Given the description of an element on the screen output the (x, y) to click on. 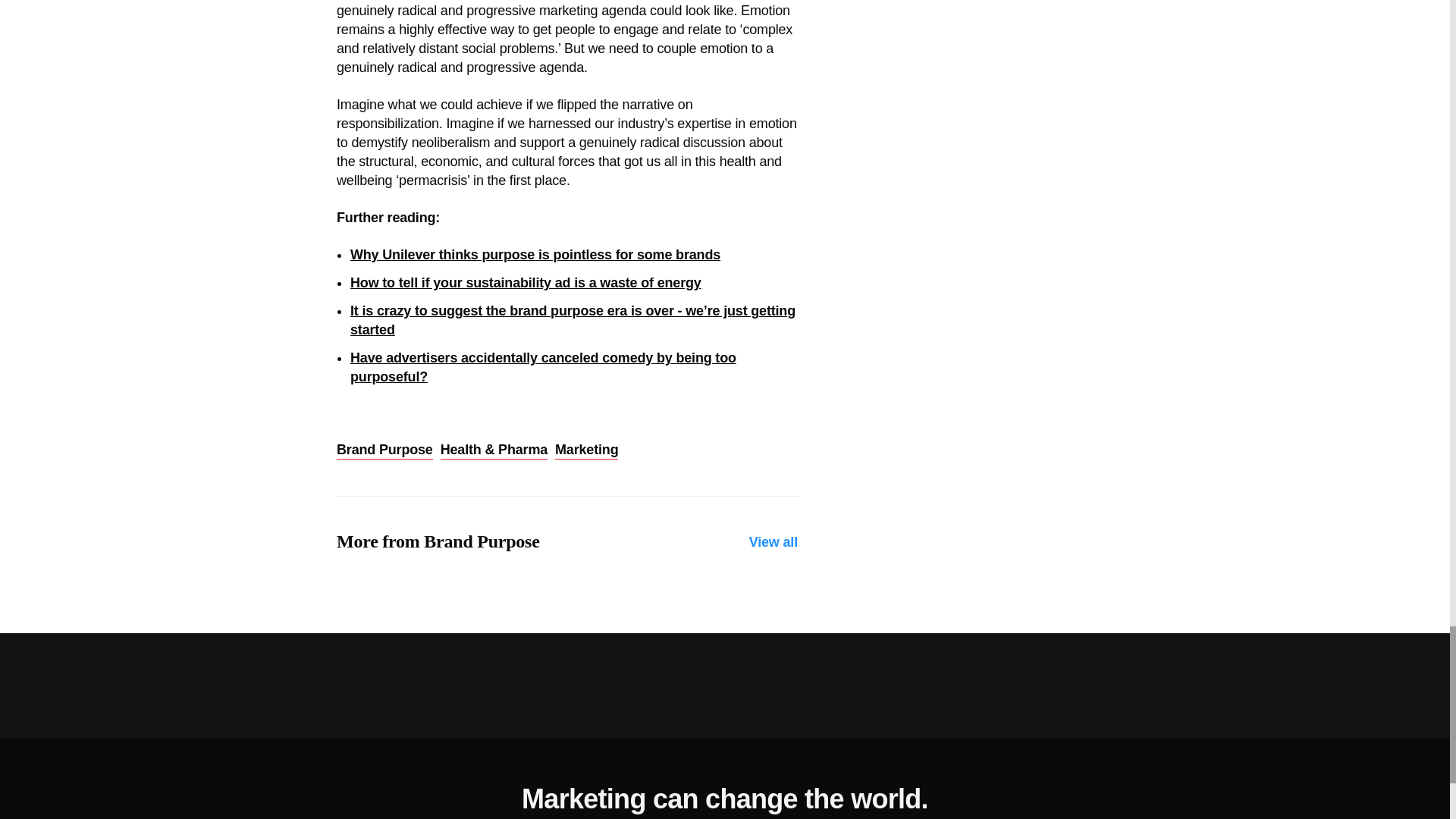
How to tell if your sustainability ad is a waste of energy (525, 282)
View all (773, 542)
Why Unilever thinks purpose is pointless for some brands (535, 254)
Brand Purpose (384, 450)
Marketing (585, 450)
